Given the description of an element on the screen output the (x, y) to click on. 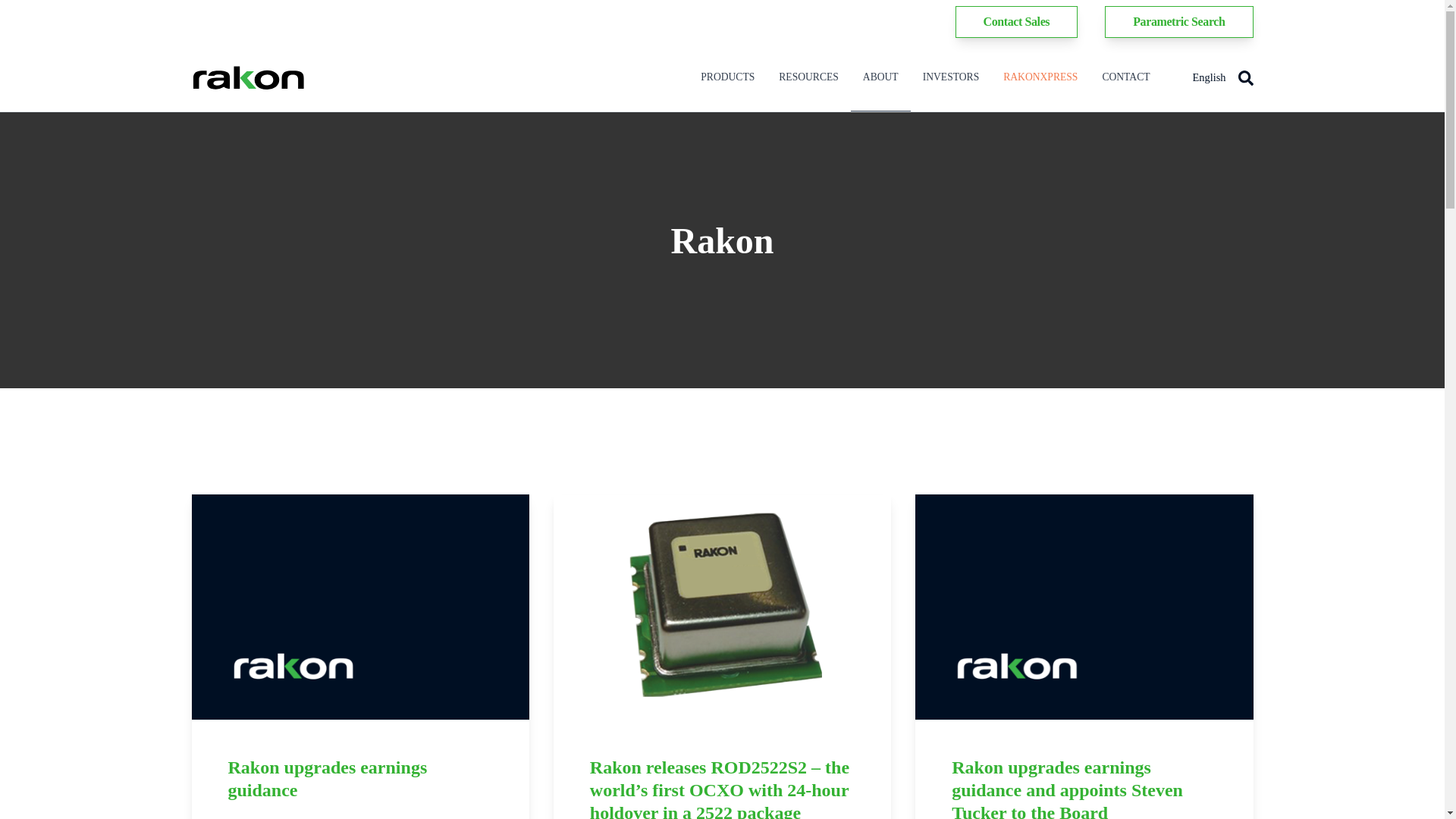
Parametric Search (1178, 21)
PRODUCTS (727, 77)
Rakon Logo Full Colour (247, 77)
Contact Sales (1016, 21)
